Given the description of an element on the screen output the (x, y) to click on. 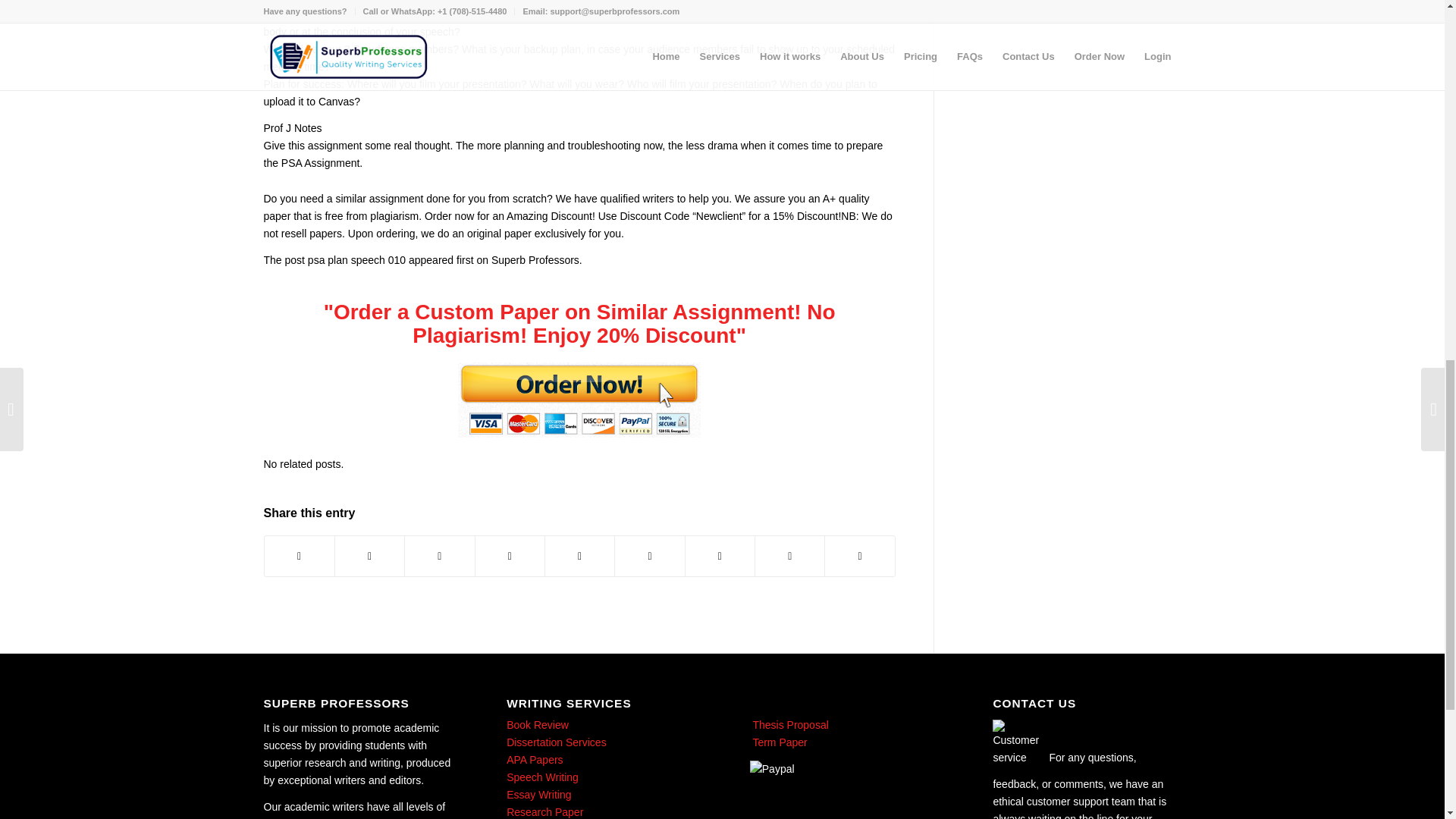
Essay Writing (538, 794)
 Thesis Proposal (788, 725)
Book Review (537, 725)
Speech Writing (542, 776)
Dissertation Services (556, 742)
Research Paper (544, 811)
APA Papers (534, 759)
 Term Paper (778, 742)
